Given the description of an element on the screen output the (x, y) to click on. 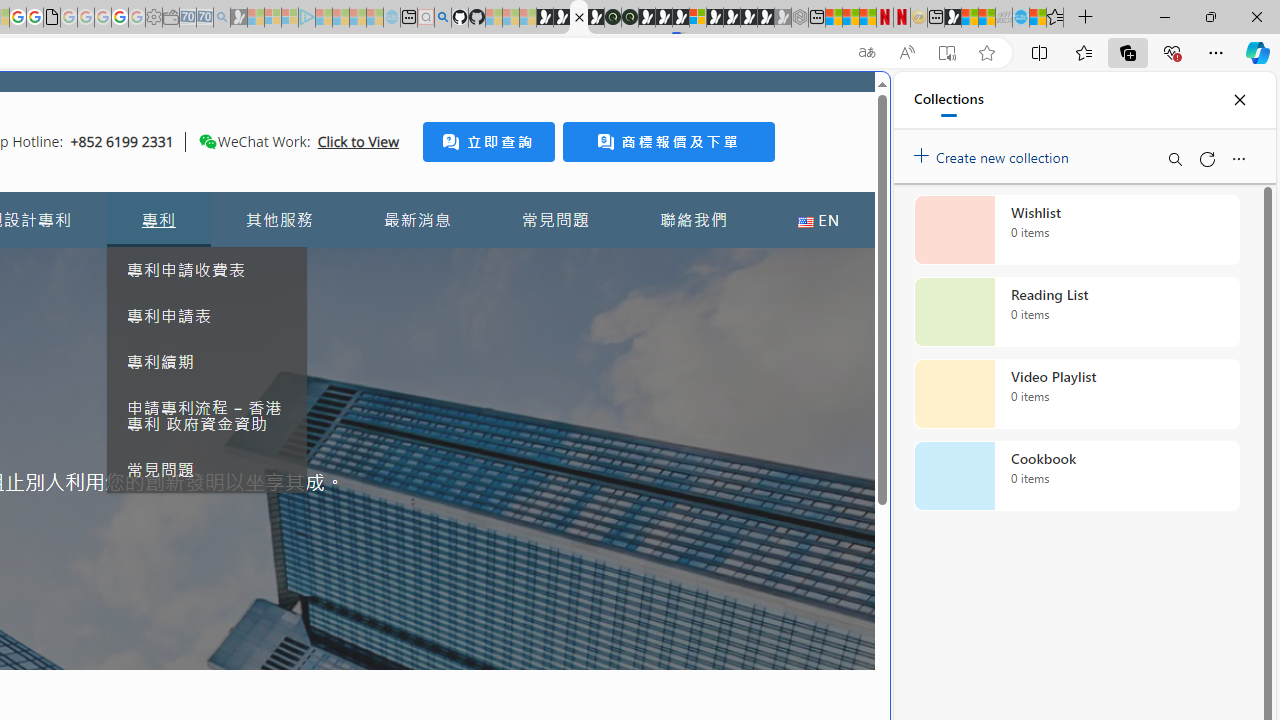
EN (818, 220)
Frequently visited (418, 265)
